Given the description of an element on the screen output the (x, y) to click on. 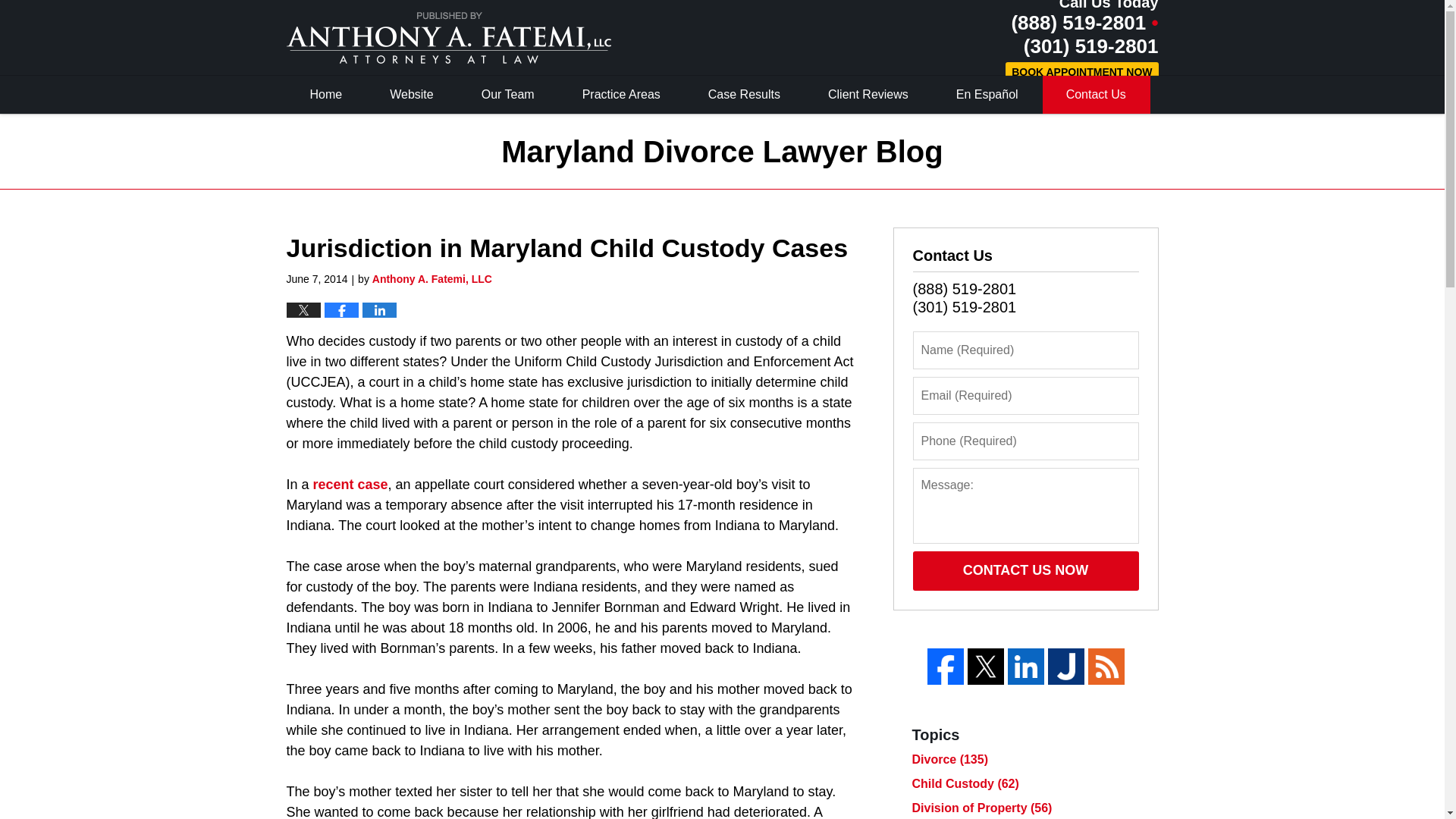
Our Team (508, 94)
Maryland Divorce Lawyer Blog (448, 37)
Case Results (744, 94)
Website (412, 94)
Contact Us (1096, 94)
Home (326, 94)
recent case (350, 484)
CONTACT US NOW (1025, 570)
Client Reviews (869, 94)
Anthony A. Fatemi, LLC (432, 278)
BOOK APPOINTMENT NOW (1081, 72)
Facebook (944, 666)
Justia (1066, 666)
Please enter a valid phone number. (1025, 441)
LinkedIn (1025, 666)
